Given the description of an element on the screen output the (x, y) to click on. 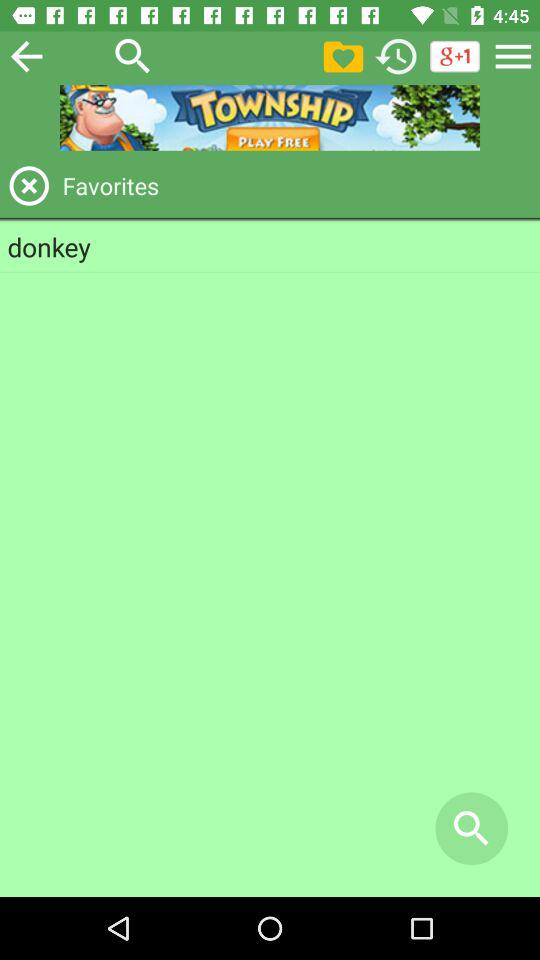
exit page (29, 185)
